Given the description of an element on the screen output the (x, y) to click on. 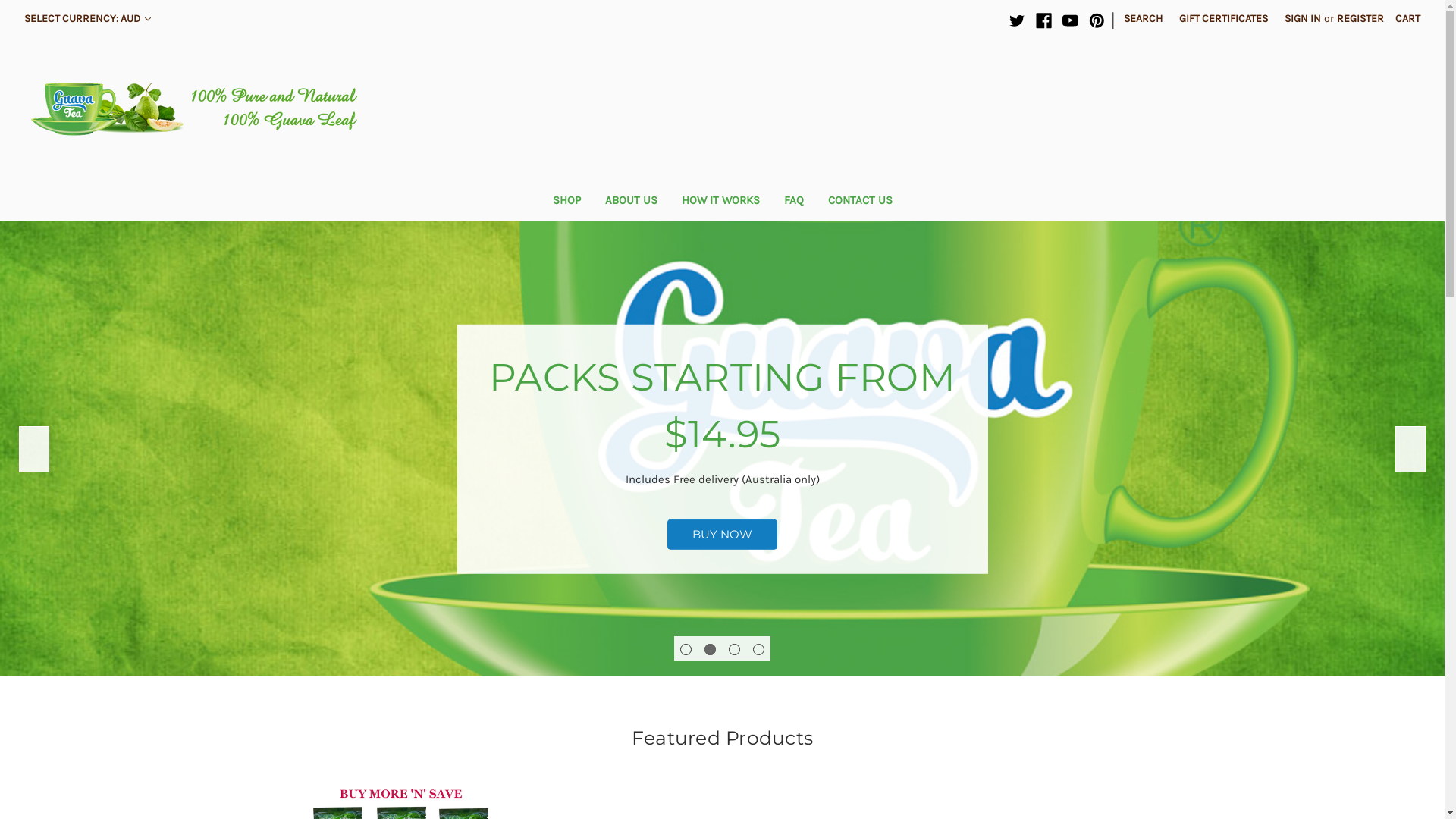
3 Element type: text (734, 649)
REGISTER Element type: text (1360, 18)
SEARCH Element type: text (1142, 18)
1 Element type: text (685, 649)
CONTACT US Element type: text (859, 201)
GuavaTea Element type: hover (200, 108)
SELECT CURRENCY: AUD Element type: text (87, 18)
HOW IT WORKS Element type: text (719, 201)
SIGN IN Element type: text (1302, 18)
4 Element type: text (758, 649)
GIFT CERTIFICATES Element type: text (1223, 18)
FAQ Element type: text (793, 201)
CART Element type: text (1407, 18)
SHOP Element type: text (565, 201)
Previous Element type: text (33, 449)
ABOUT US Element type: text (631, 201)
2 Element type: text (709, 649)
Next Element type: text (1410, 449)
